Given the description of an element on the screen output the (x, y) to click on. 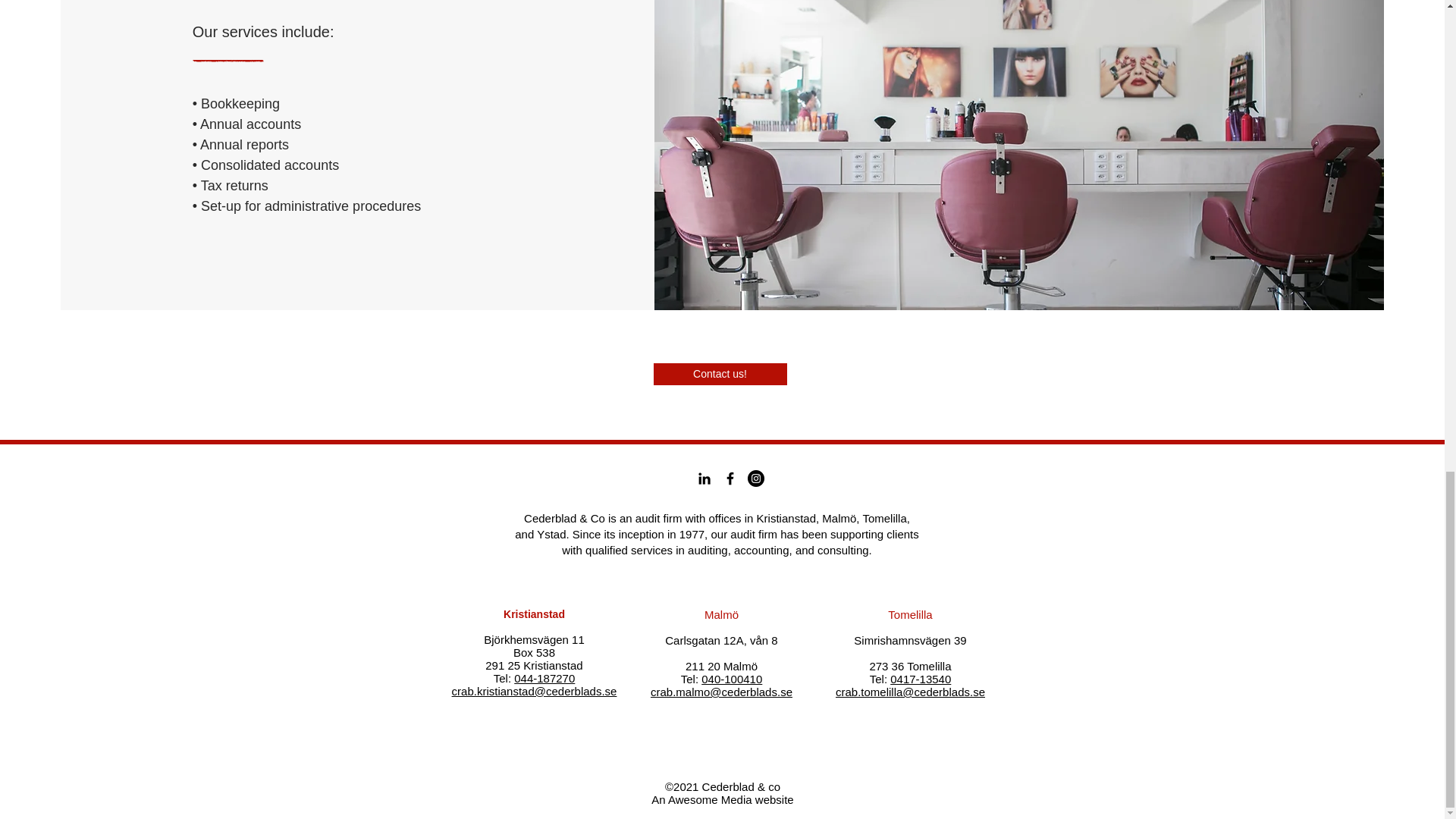
044-187270 (544, 677)
040-100410 (731, 678)
Contact us! (720, 373)
0417-13540 (919, 678)
